Given the description of an element on the screen output the (x, y) to click on. 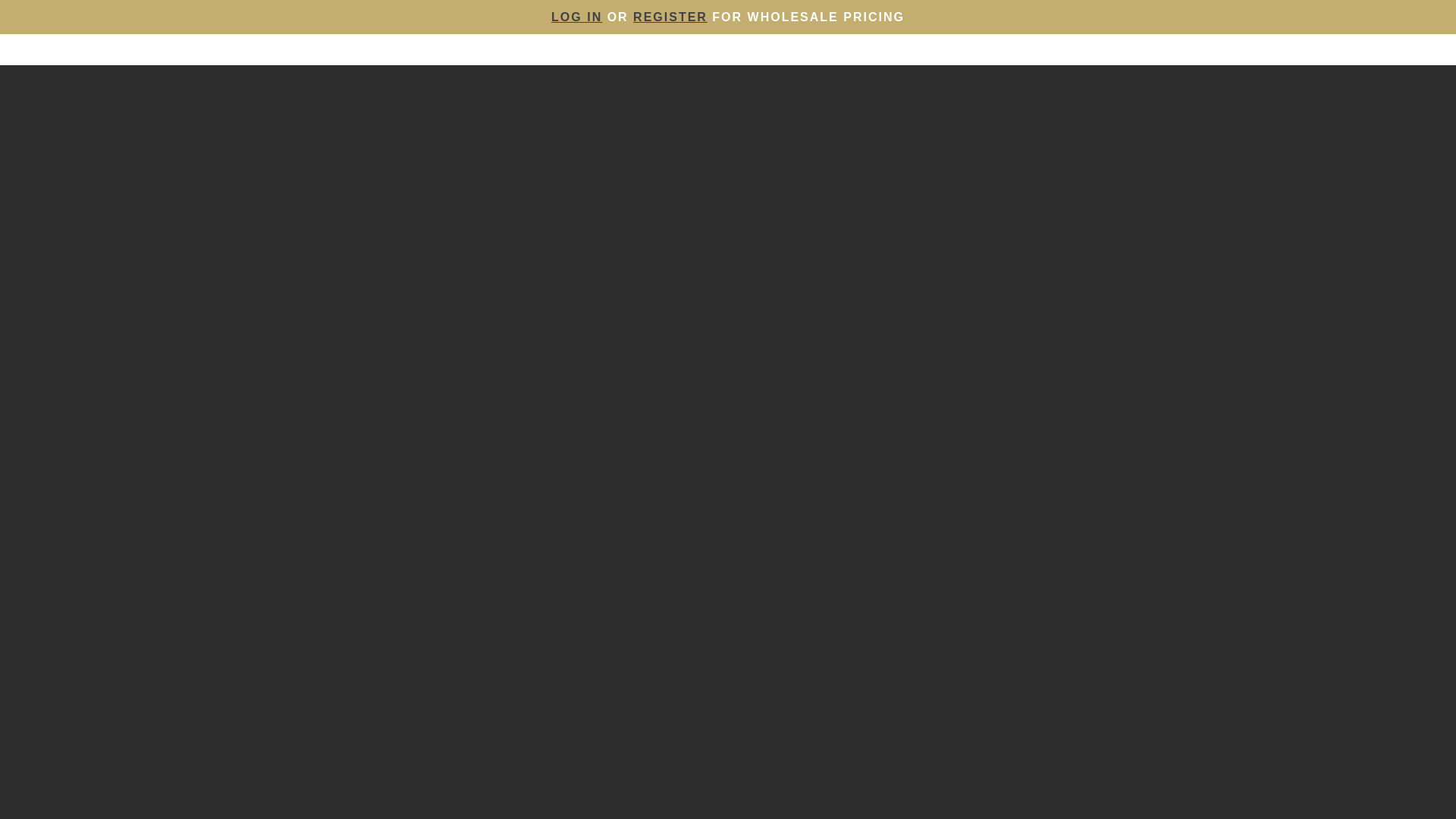
REGISTER (670, 16)
LOG IN (576, 16)
